Given the description of an element on the screen output the (x, y) to click on. 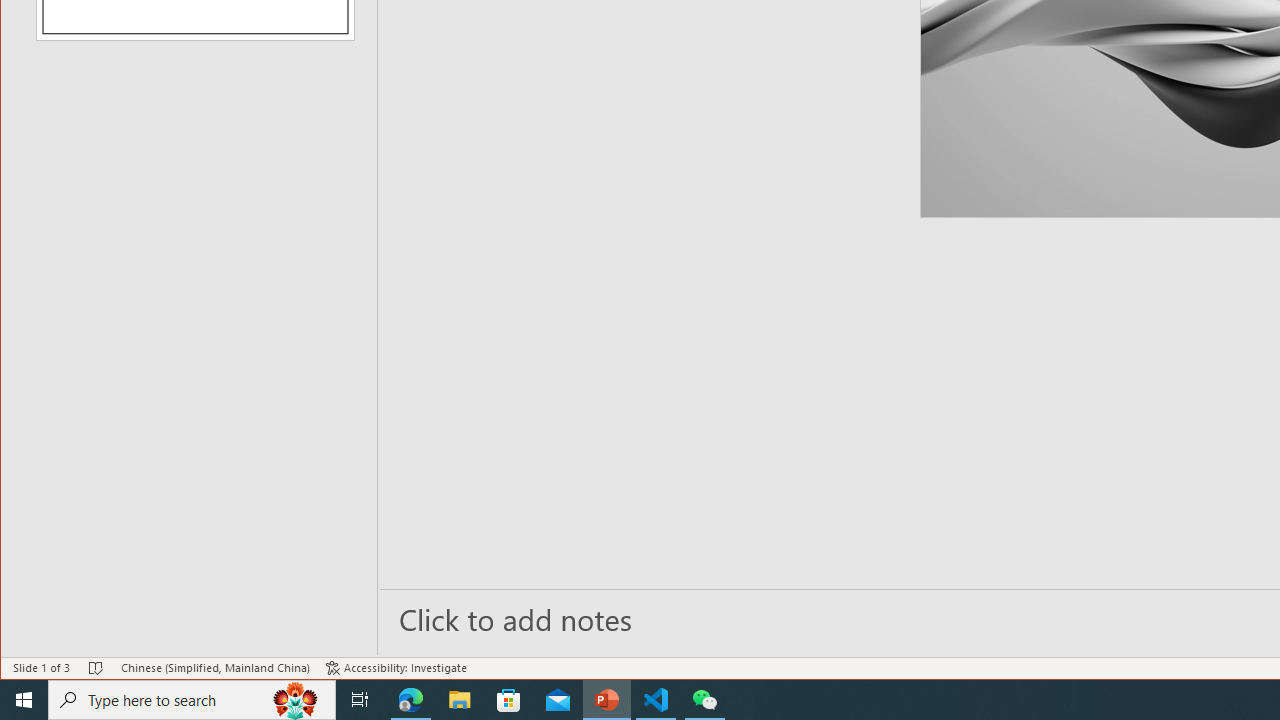
WeChat - 1 running window (704, 699)
